Given the description of an element on the screen output the (x, y) to click on. 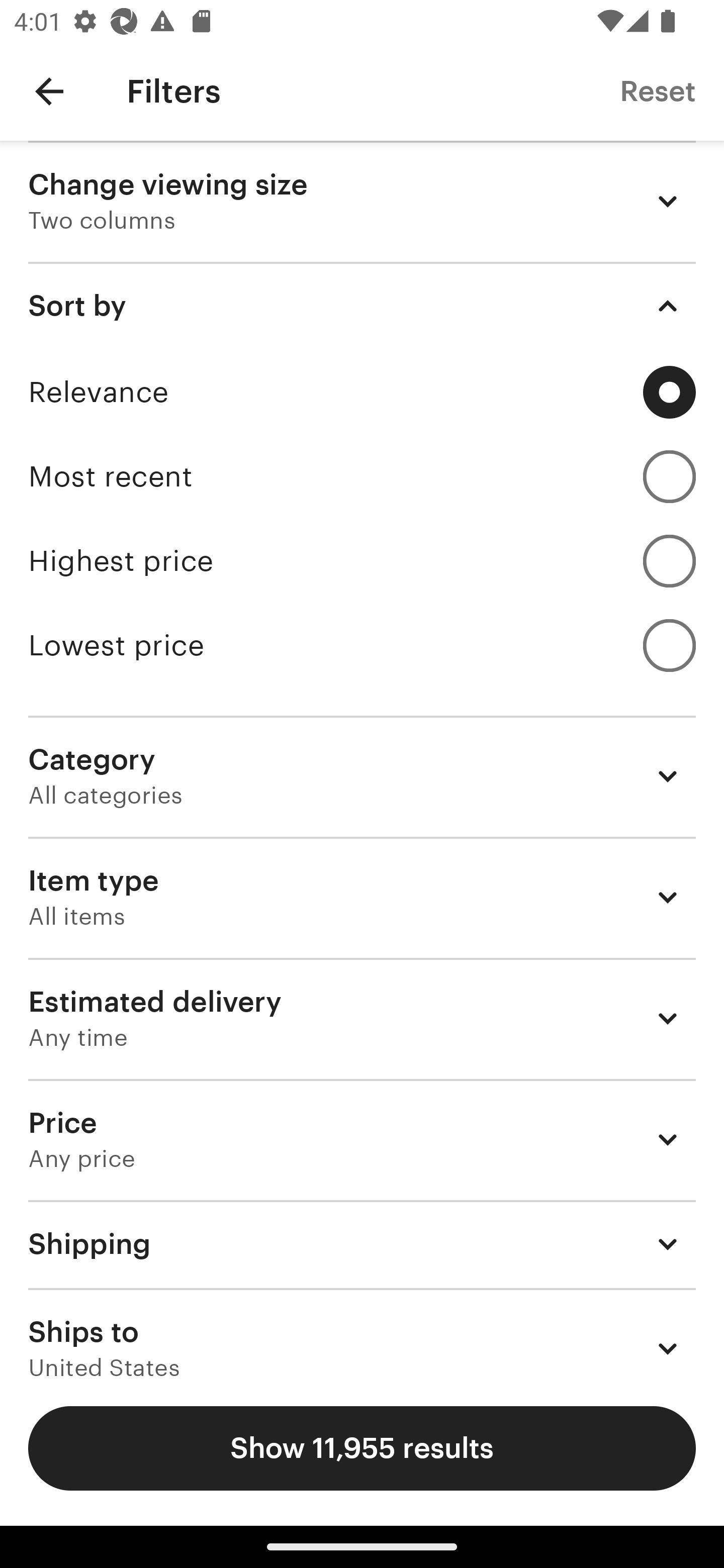
Navigate up (49, 91)
Reset (657, 90)
Change viewing size Two columns (362, 201)
Sort by (362, 305)
Relevance (362, 391)
Most recent (362, 476)
Highest price (362, 561)
Lowest price (362, 644)
Category All categories (362, 776)
Item type All items (362, 897)
Estimated delivery Any time (362, 1018)
Price Any price (362, 1138)
Shipping (362, 1243)
Ships to United States (362, 1332)
Show 11,955 results Show results (361, 1448)
